Given the description of an element on the screen output the (x, y) to click on. 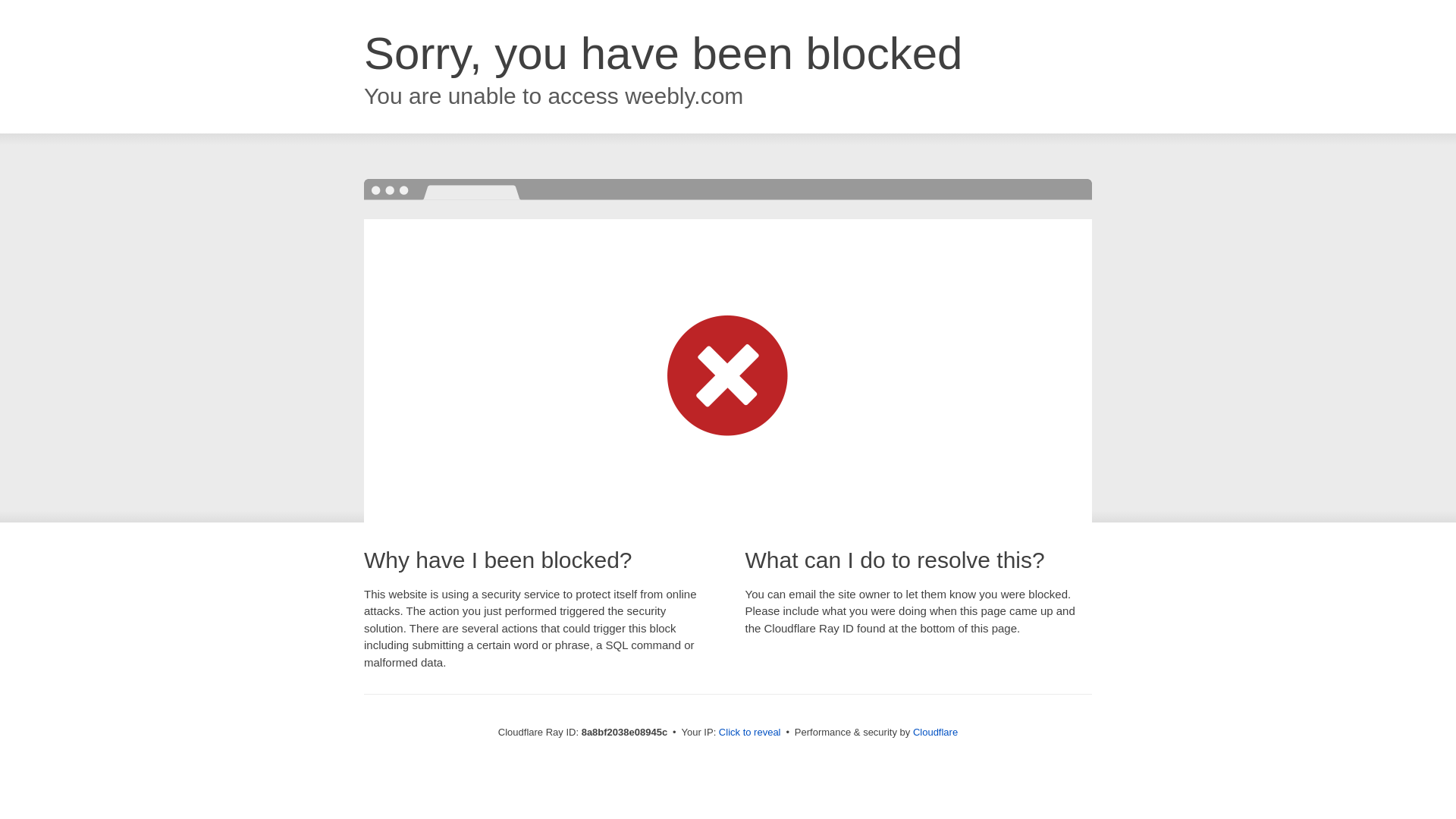
Click to reveal (749, 732)
Cloudflare (935, 731)
